Given the description of an element on the screen output the (x, y) to click on. 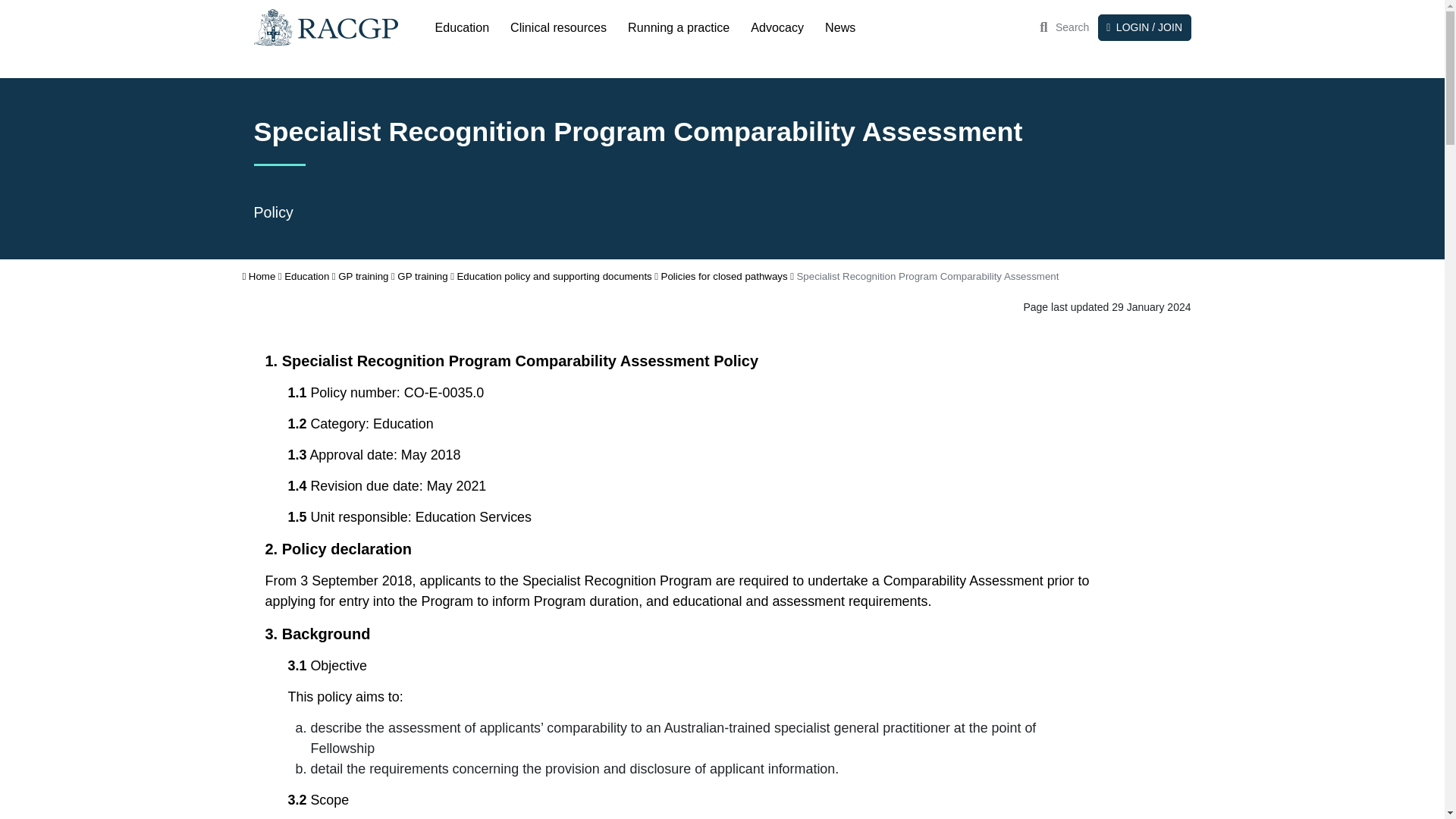
Policies for closed pathways (724, 275)
Education policy and supporting documents (553, 275)
Education (462, 27)
Education (306, 275)
GP training (362, 275)
RACGP Logo (325, 26)
GP training (421, 275)
